Given the description of an element on the screen output the (x, y) to click on. 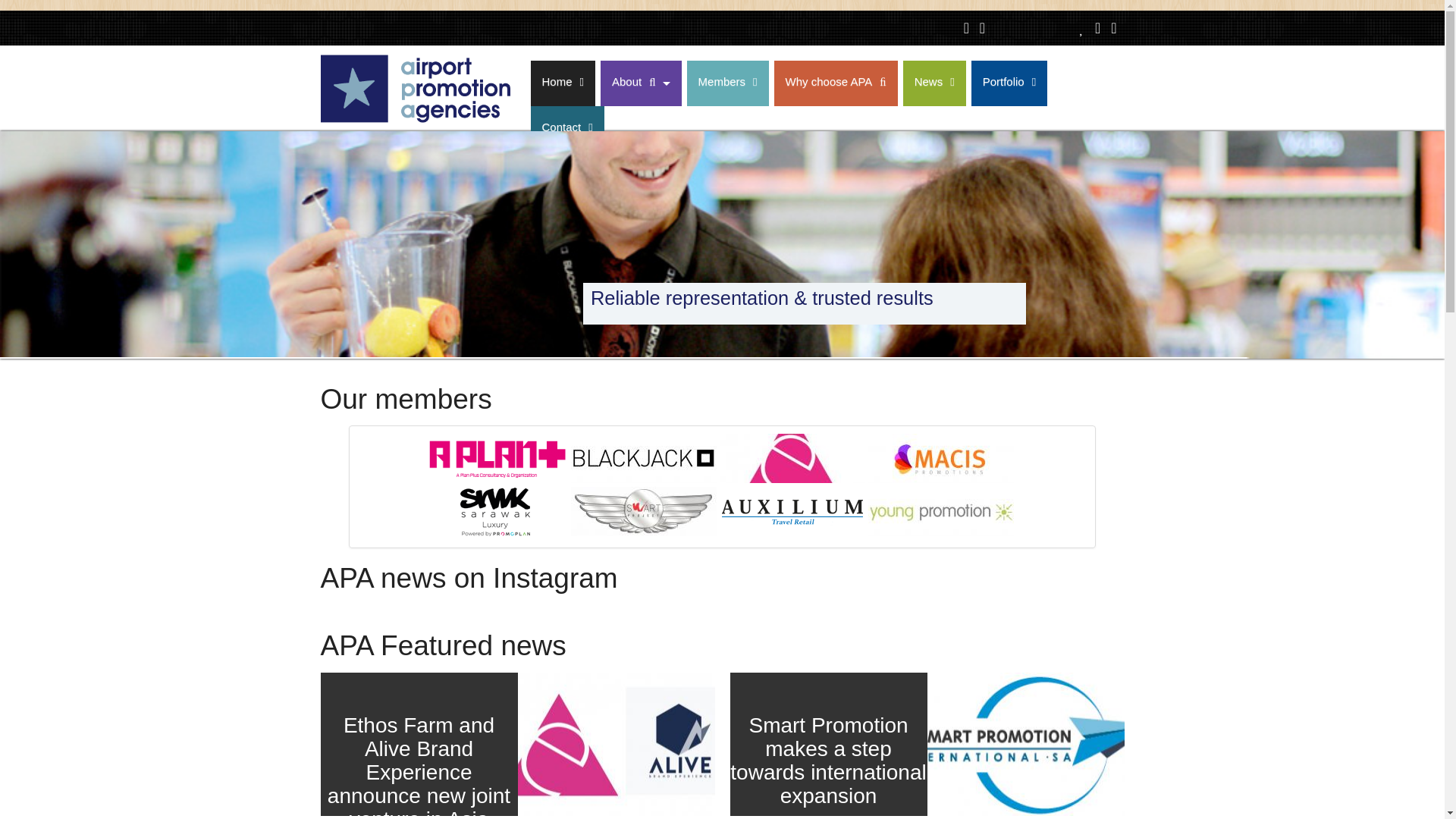
Home (414, 120)
News (934, 83)
About (640, 83)
Members (727, 83)
Contact (567, 128)
Home (563, 83)
Why choose APA (836, 83)
Portfolio (1009, 83)
